Given the description of an element on the screen output the (x, y) to click on. 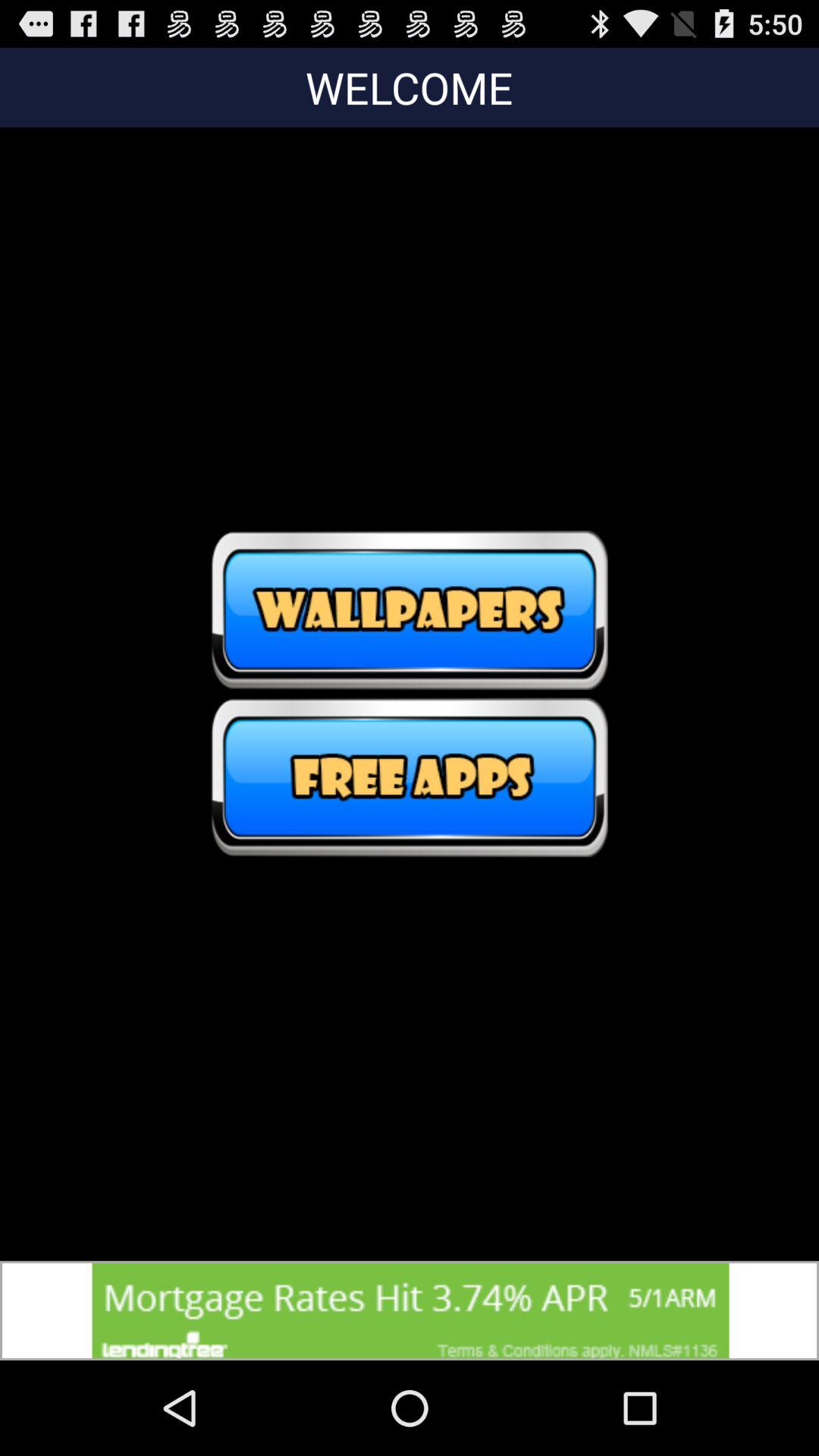
open up free apps (409, 777)
